Given the description of an element on the screen output the (x, y) to click on. 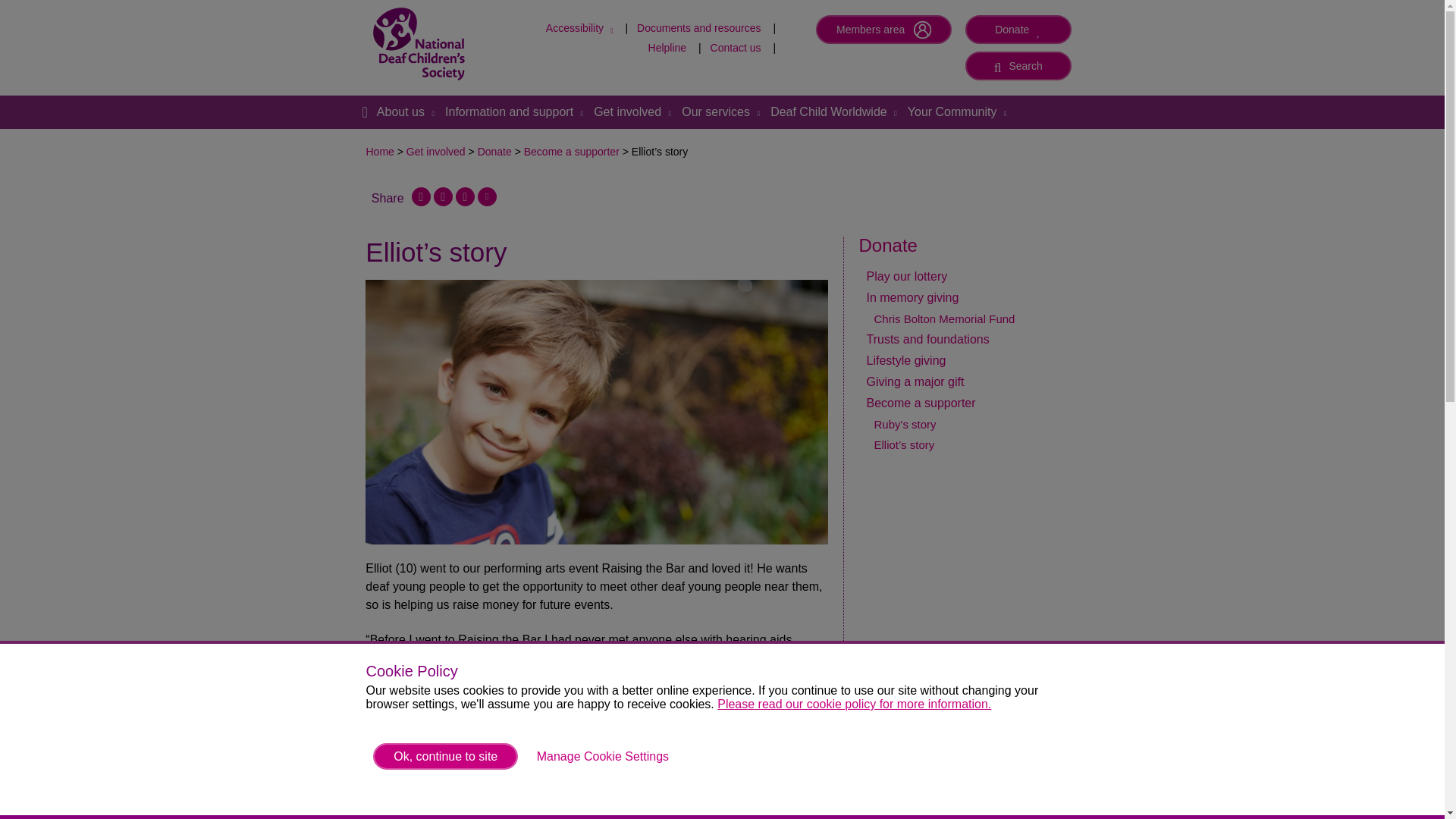
Search our site (1018, 65)
Share this page on Facebook (421, 196)
Contact us (883, 29)
Documents and resources (1018, 65)
Home (735, 47)
Launch Login (698, 28)
Helpline (364, 111)
About us (883, 29)
Please read our cookie policy for more information. (580, 28)
Donate to NDCS (667, 47)
Manage Cookie Settings (405, 111)
Share this page on LinkedIn (854, 703)
